Given the description of an element on the screen output the (x, y) to click on. 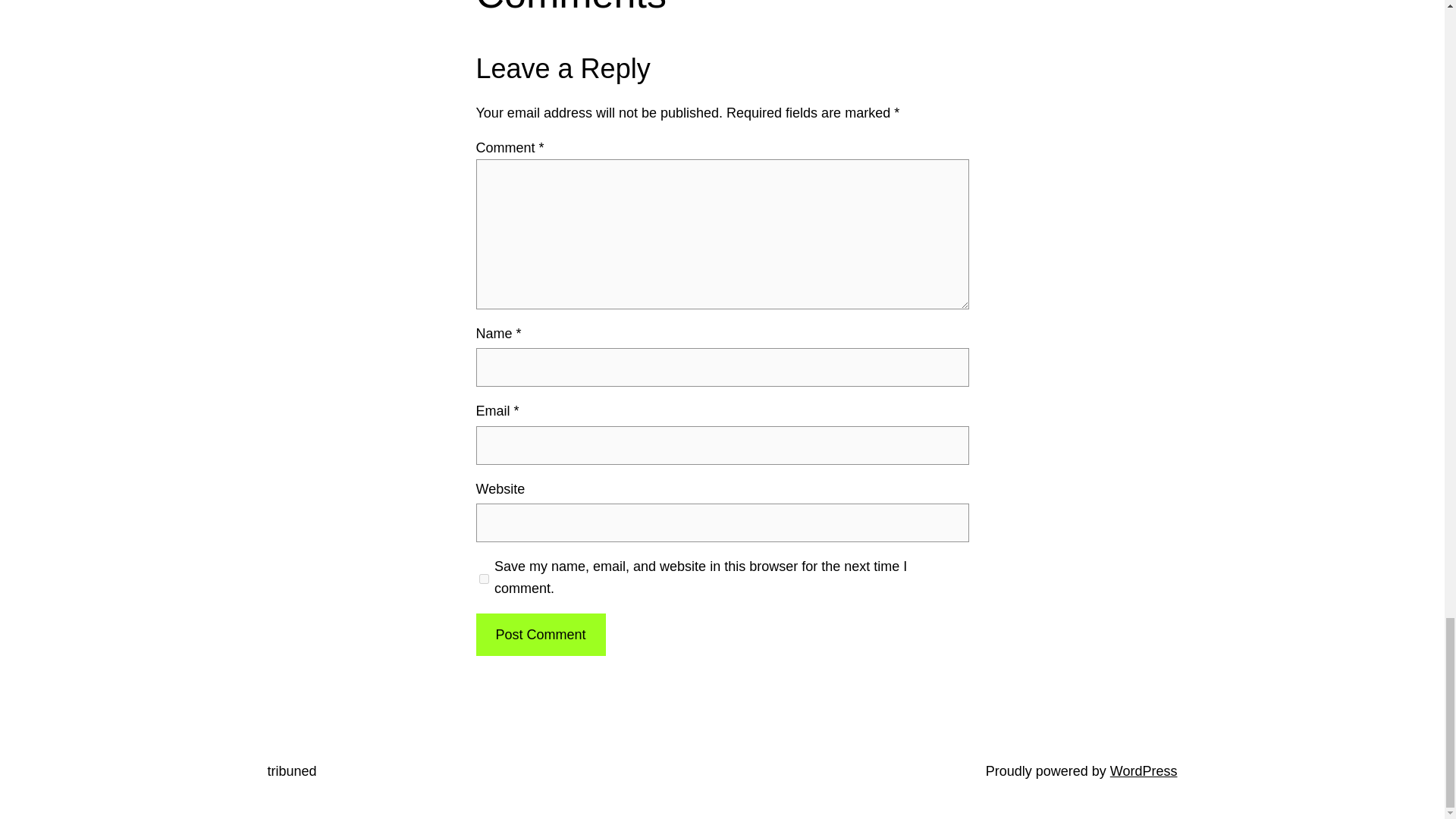
WordPress (1143, 770)
tribuned (290, 770)
Post Comment (540, 634)
Post Comment (540, 634)
